Given the description of an element on the screen output the (x, y) to click on. 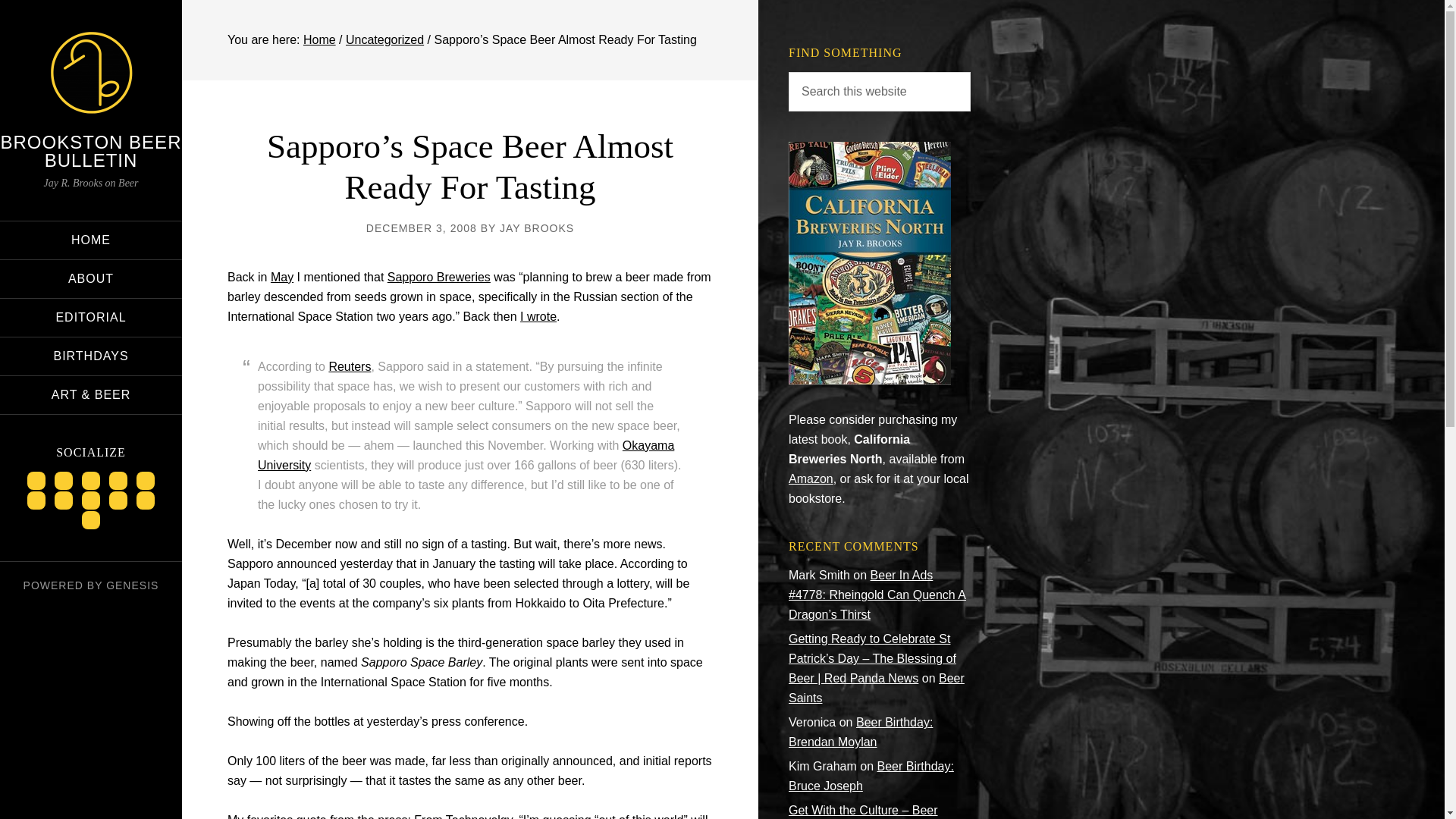
BROOKSTON BEER BULLETIN (91, 150)
BIRTHDAYS (91, 356)
Sapporo Breweries (438, 277)
EDITORIAL (91, 317)
Beer Birthday: Bruce Joseph (871, 776)
Reuters (350, 366)
HOME (91, 240)
Uncategorized (384, 39)
Technovelgy (478, 816)
JAY BROOKS (536, 227)
Beer Saints (876, 687)
ABOUT (91, 279)
May (282, 277)
Beer Birthday: Brendan Moylan (861, 731)
